Given the description of an element on the screen output the (x, y) to click on. 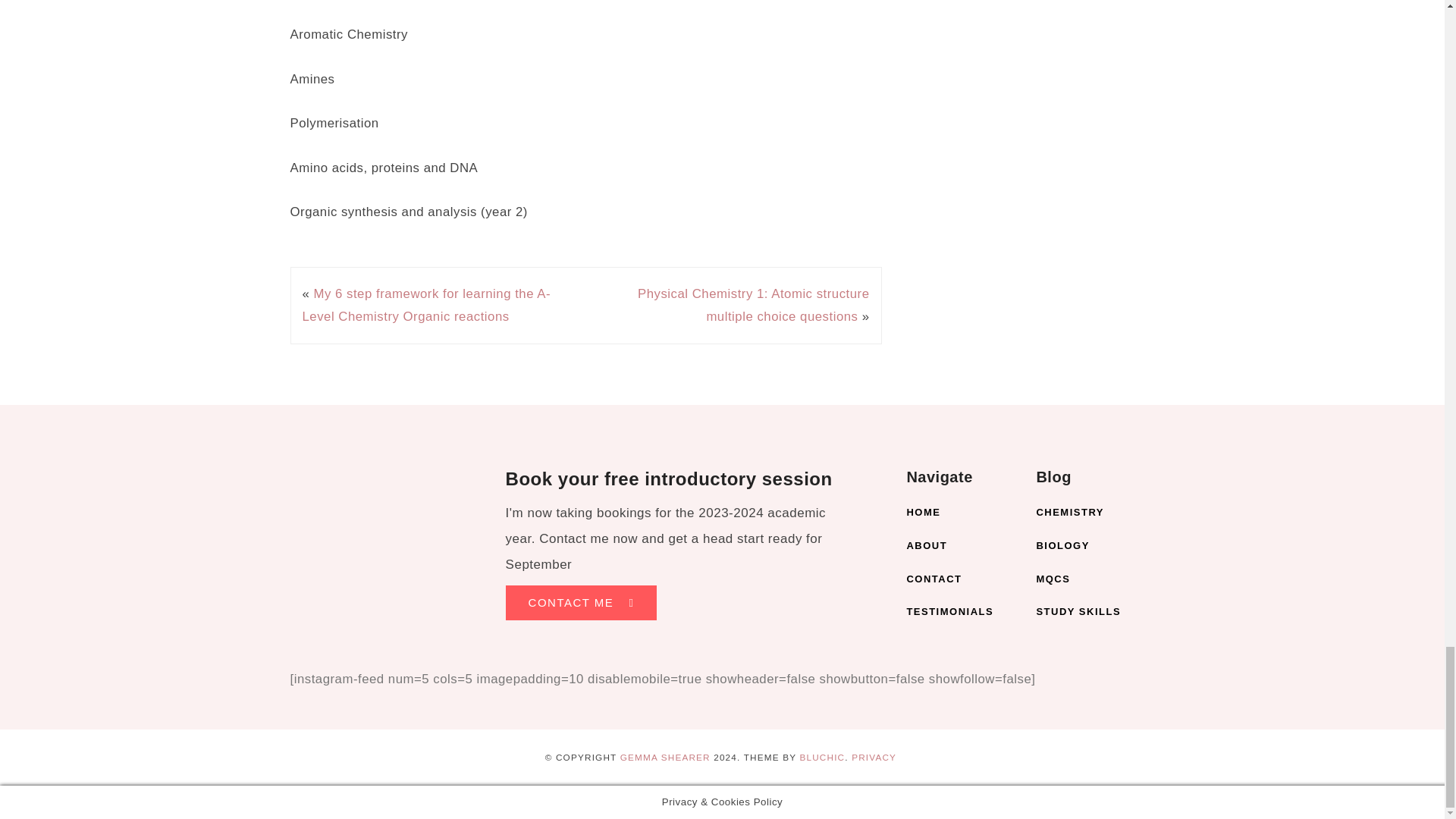
HOME (959, 512)
CONTACT ME (581, 602)
